Given the description of an element on the screen output the (x, y) to click on. 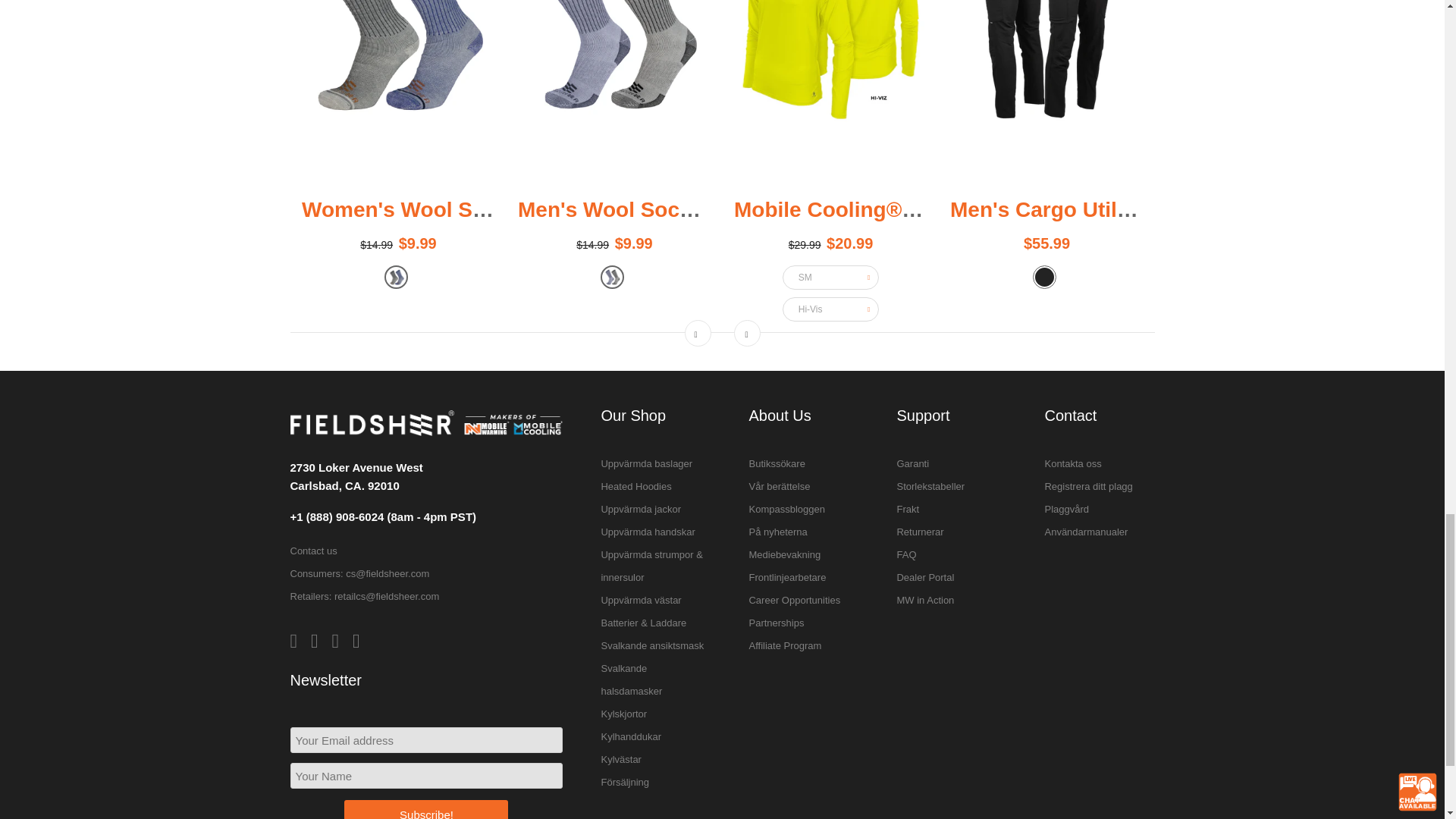
Subscribe! (425, 809)
